Given the description of an element on the screen output the (x, y) to click on. 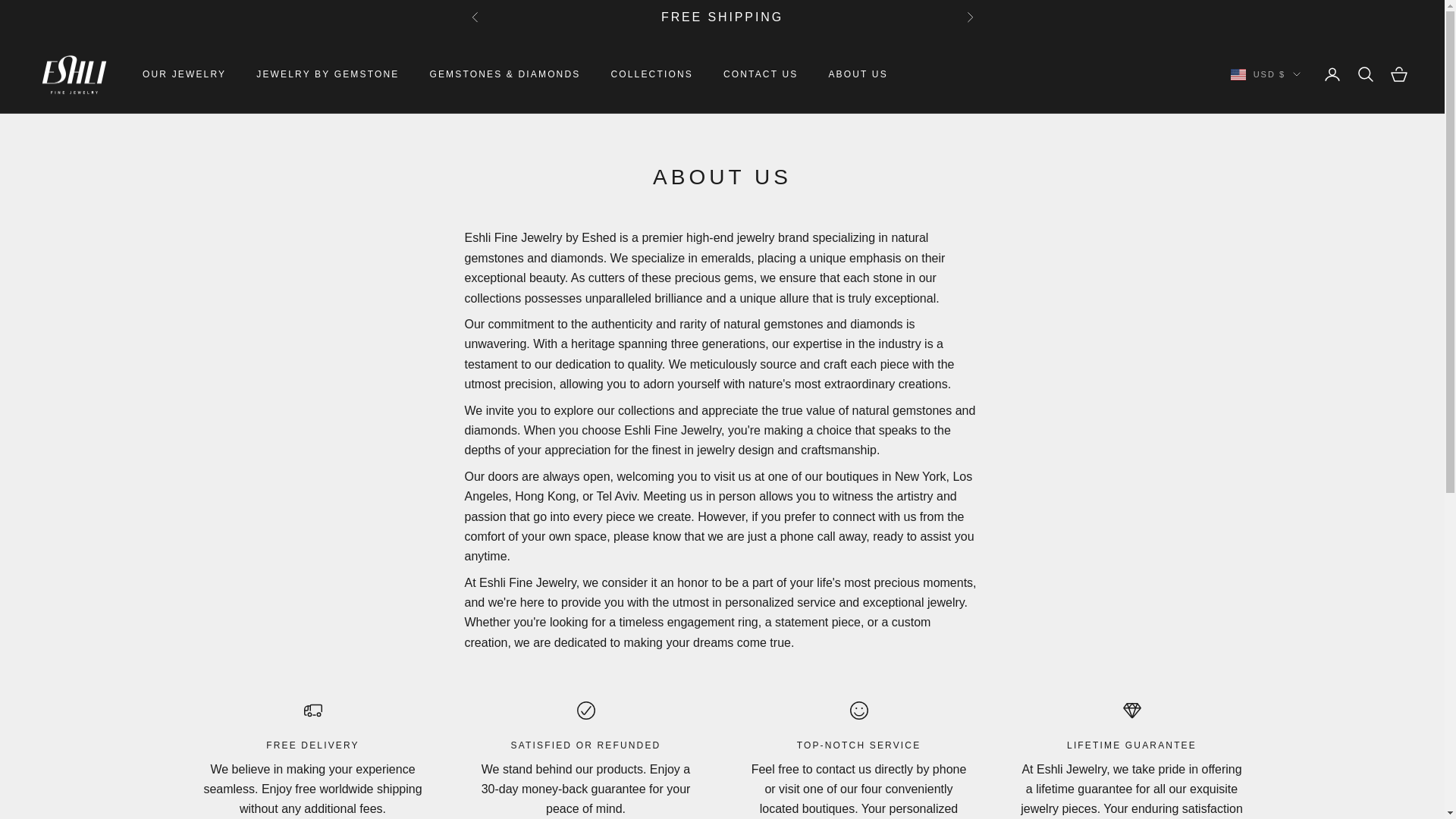
Eshli Fine Jewelry (74, 74)
CONTACT US (760, 73)
ABOUT US (857, 73)
